Given the description of an element on the screen output the (x, y) to click on. 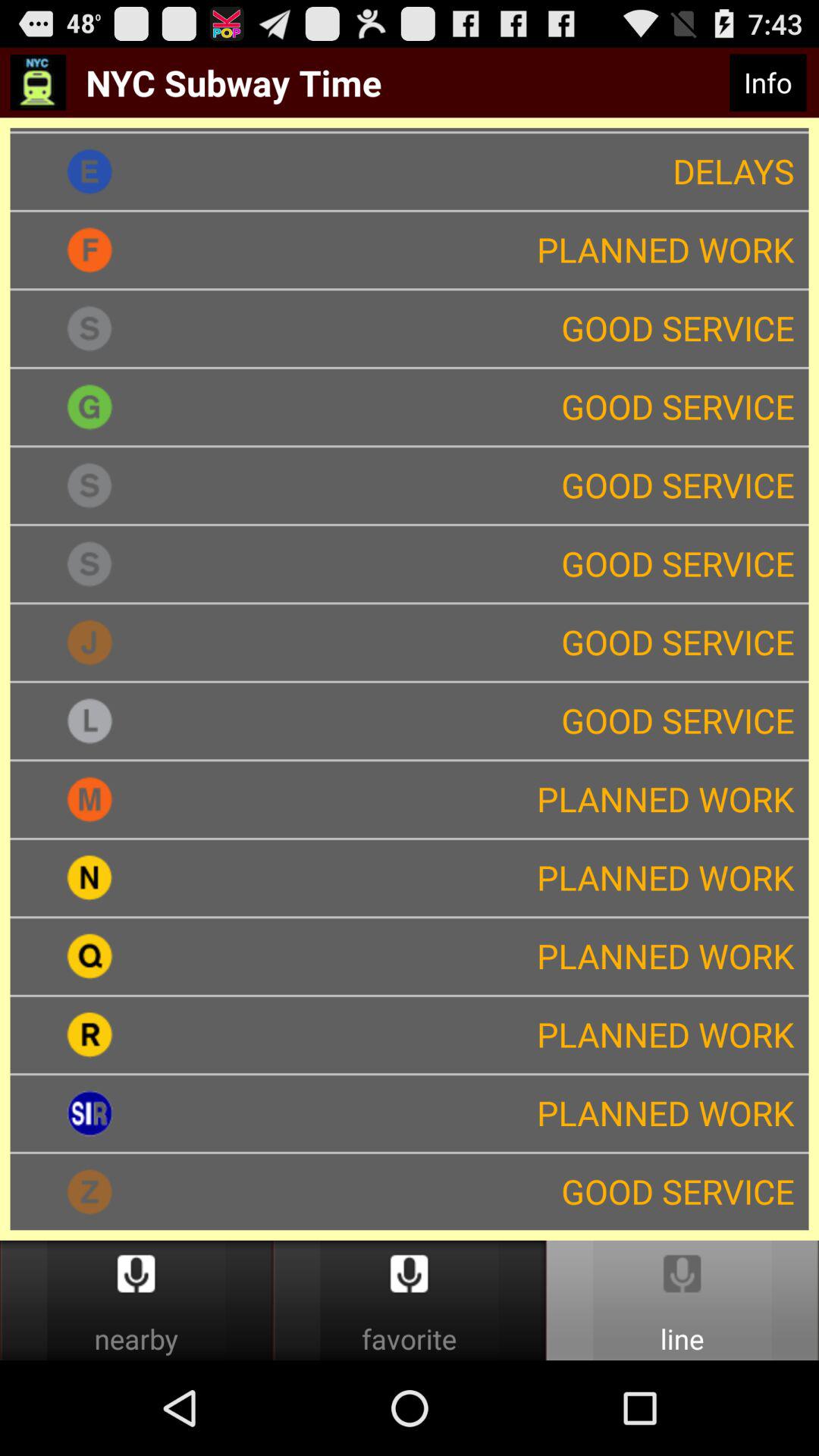
swipe to info item (767, 82)
